Given the description of an element on the screen output the (x, y) to click on. 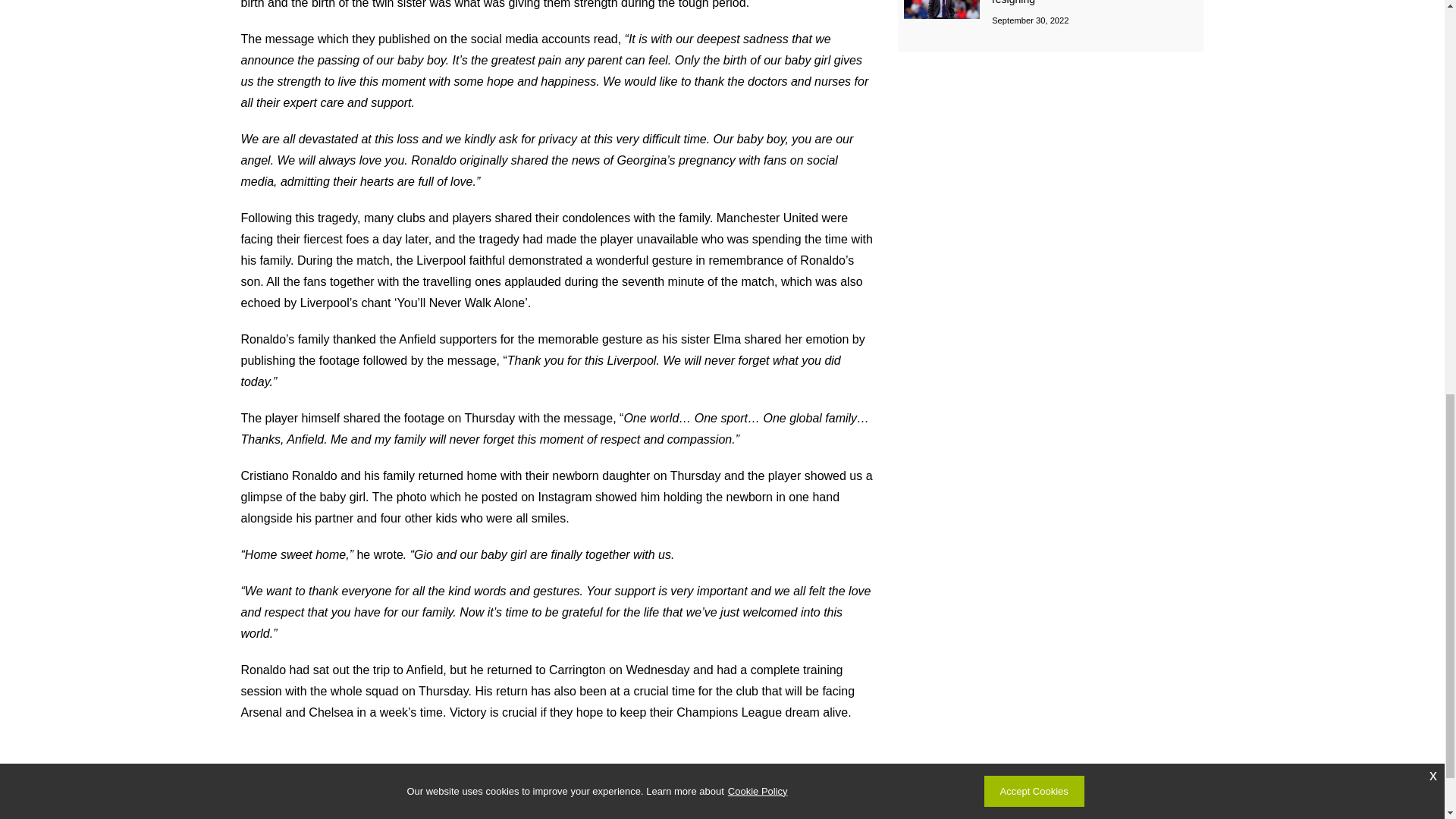
Spain drops all 15 players, coach not resigning (1078, 2)
